Given the description of an element on the screen output the (x, y) to click on. 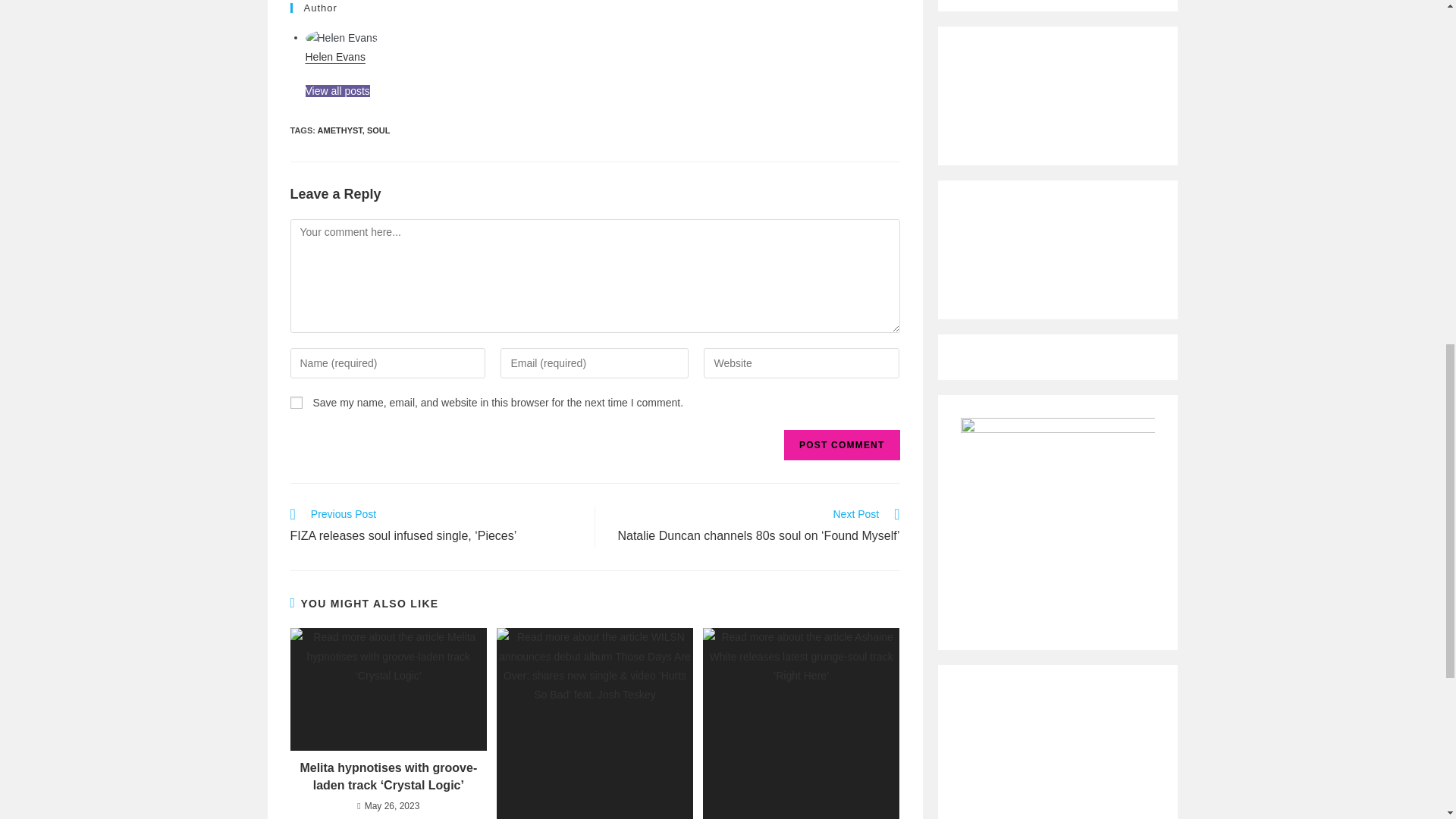
Spotify Embed: She Makes Music: Tracks of the Week (1056, 90)
Post Comment (841, 444)
Helen Evans (334, 56)
Spotify Embed: She Makes POP Music (1056, 244)
View all posts (336, 91)
yes (295, 402)
